Given the description of an element on the screen output the (x, y) to click on. 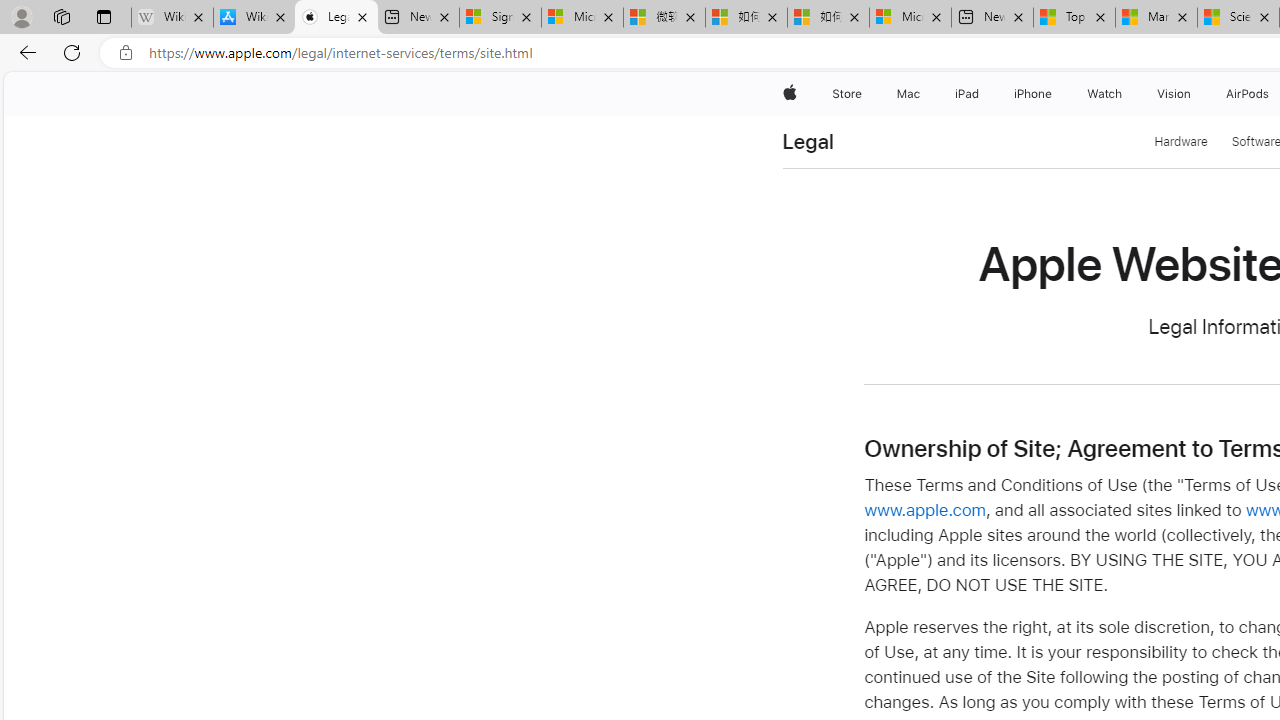
Hardware (1181, 141)
Watch menu (1125, 93)
Vision menu (1195, 93)
Apple (789, 93)
AirPods (1247, 93)
Store (846, 93)
iPad (965, 93)
iPad menu (982, 93)
iPhone (1033, 93)
Mac menu (922, 93)
iPhone menu (1055, 93)
